Given the description of an element on the screen output the (x, y) to click on. 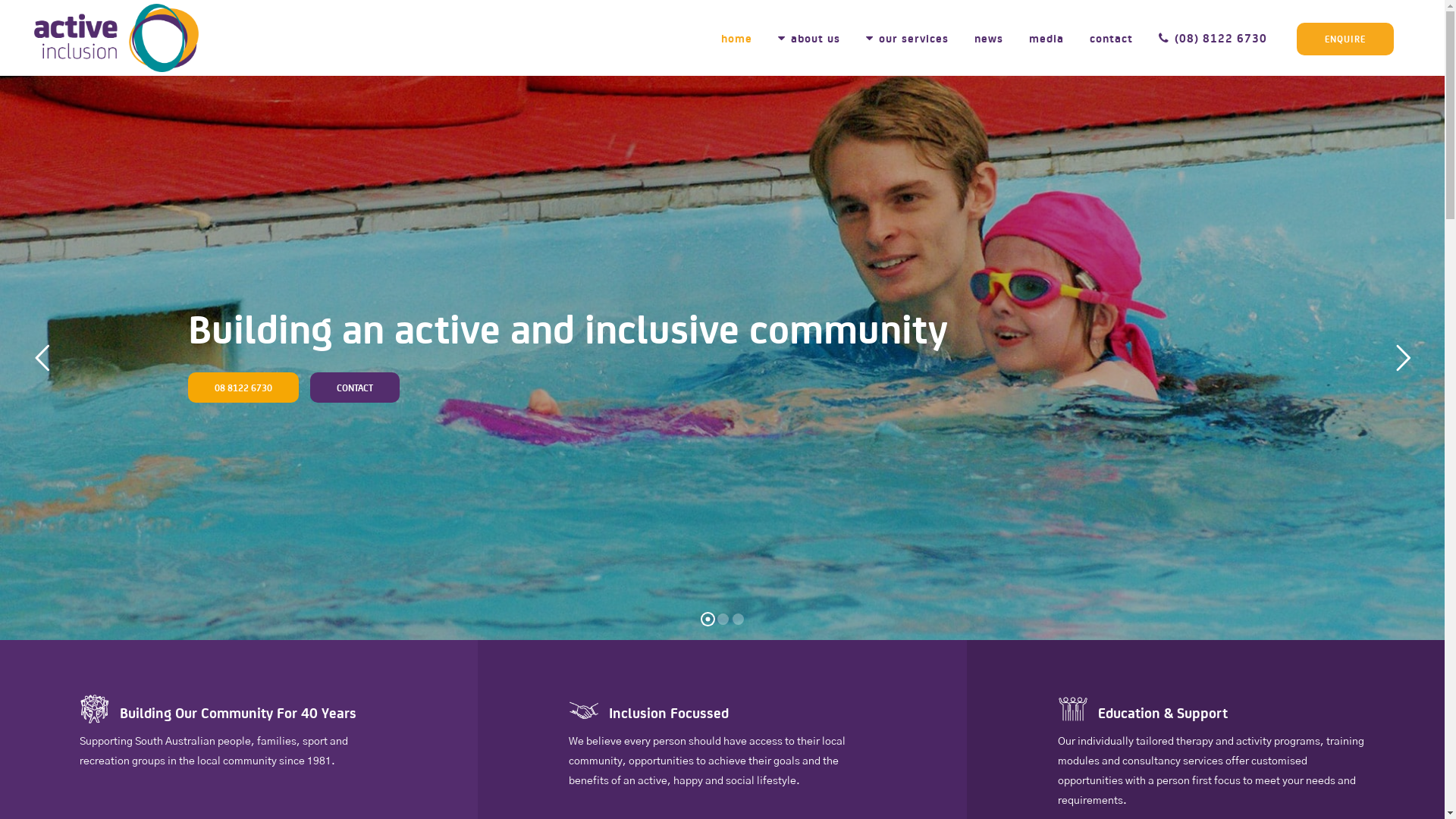
CONTACT Element type: text (354, 387)
(08) 8122 6730 Element type: text (1212, 37)
Building Our Community For 40 Years Element type: text (237, 711)
news Element type: text (988, 37)
ENQUIRE Element type: text (1344, 38)
08 8122 6730 Element type: text (243, 387)
contact Element type: text (1110, 37)
Education & Support Element type: text (1162, 711)
our services Element type: text (907, 37)
home Element type: text (736, 37)
media Element type: text (1046, 37)
ENQUIRE Element type: text (1345, 37)
Inclusion Focussed Element type: text (668, 711)
about us Element type: text (809, 37)
